Given the description of an element on the screen output the (x, y) to click on. 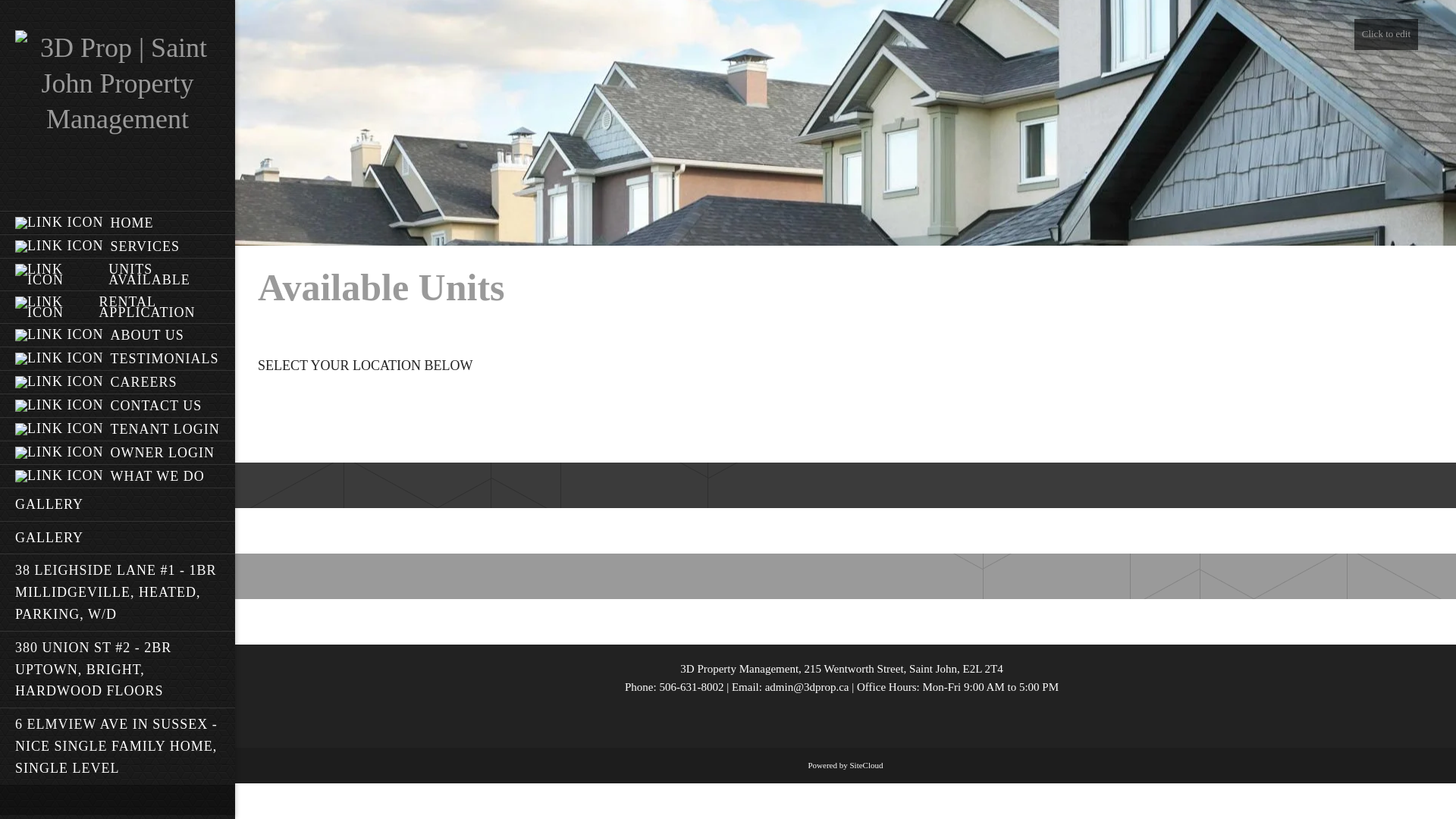
SERVICES Element type: text (117, 245)
SiteCloud Element type: text (865, 764)
Go to site home page Element type: hover (117, 83)
OWNER LOGIN Element type: text (117, 452)
RENTAL APPLICATION Element type: text (117, 306)
CONTACT US Element type: text (117, 405)
Click to edit Element type: text (1386, 34)
ABOUT US Element type: text (117, 334)
GALLERY Element type: text (117, 503)
TESTIMONIALS Element type: text (117, 358)
380 UNION ST #2 - 2BR UPTOWN, BRIGHT, HARDWOOD FLOORS Element type: text (117, 668)
TENANT LOGIN Element type: text (117, 428)
UNITS AVAILABLE Element type: text (117, 273)
HOME Element type: text (117, 222)
GALLERY Element type: text (117, 537)
WHAT WE DO Element type: text (117, 475)
CAREERS Element type: text (117, 381)
